Given the description of an element on the screen output the (x, y) to click on. 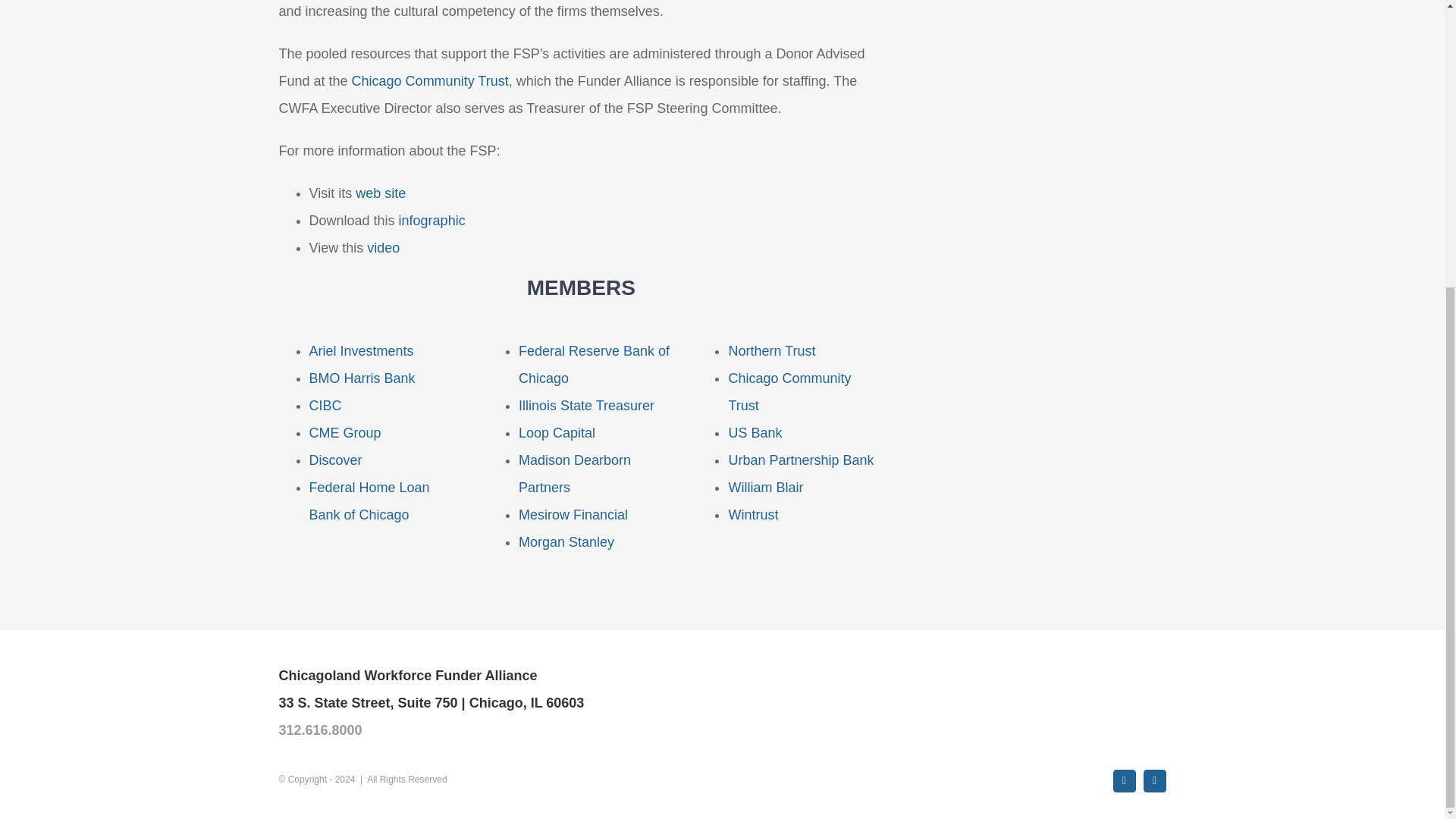
YouTube (1154, 780)
video (382, 247)
infographic (431, 220)
Ariel Investments (360, 350)
Federal Reserve Bank of Chicago (593, 364)
web site (380, 192)
CIBC (325, 405)
Federal Home Loan Bank of Chicago (368, 500)
CME Group (344, 432)
Discover (335, 459)
